Given the description of an element on the screen output the (x, y) to click on. 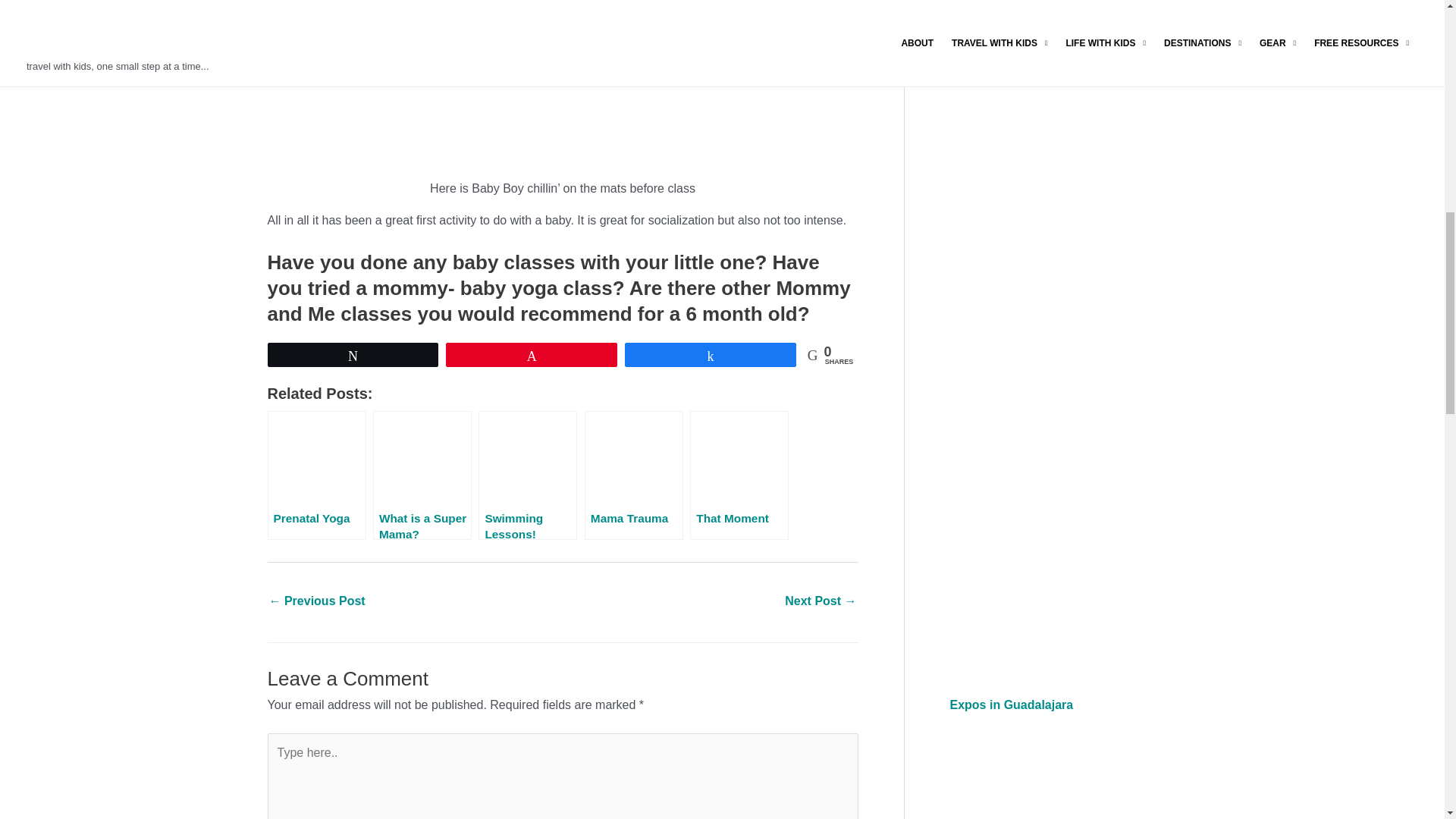
Guadalajara Regional Museum: More Centro Sightseeing (820, 602)
Bosque Colomos (316, 602)
